Given the description of an element on the screen output the (x, y) to click on. 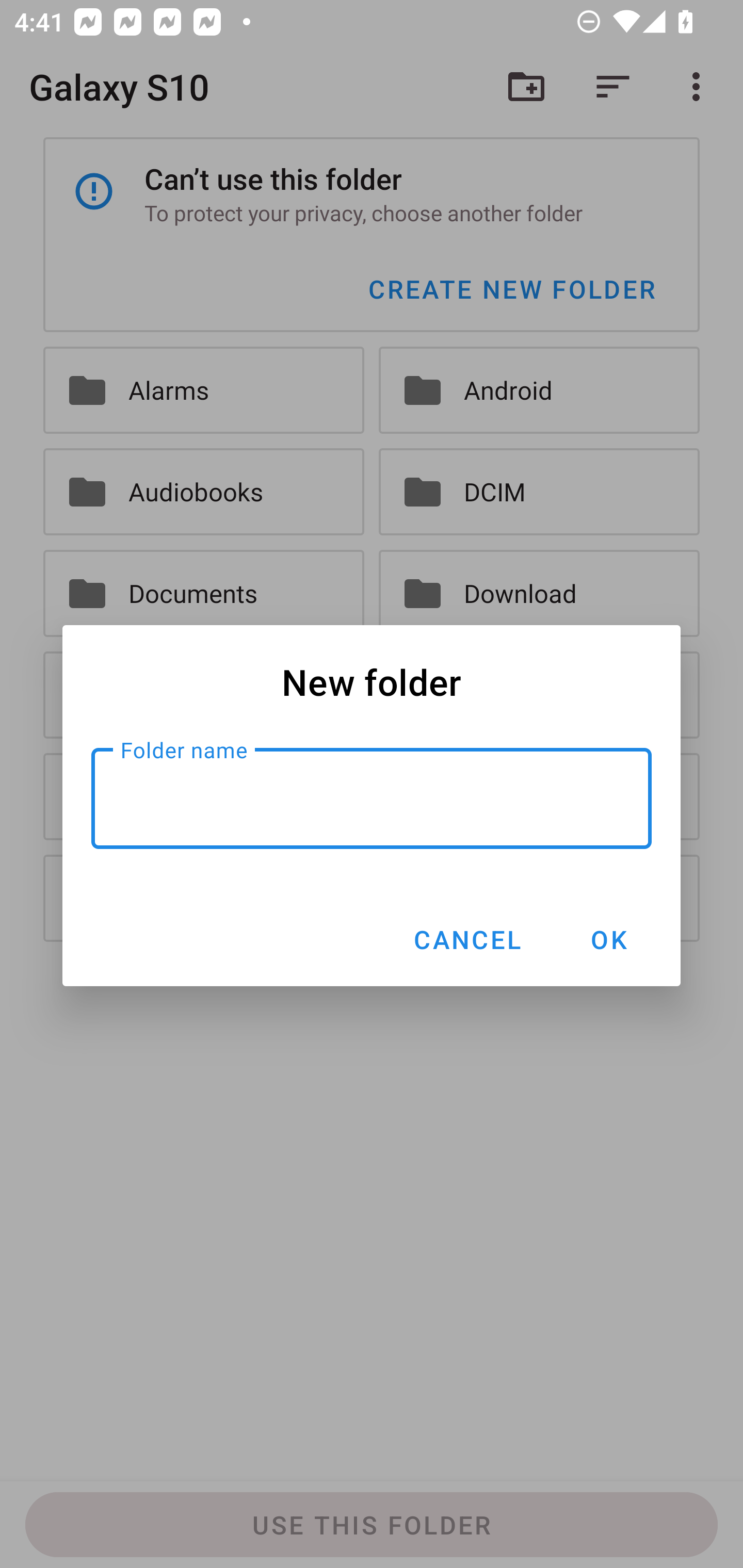
Folder name (371, 797)
CANCEL (466, 939)
OK (608, 939)
